Given the description of an element on the screen output the (x, y) to click on. 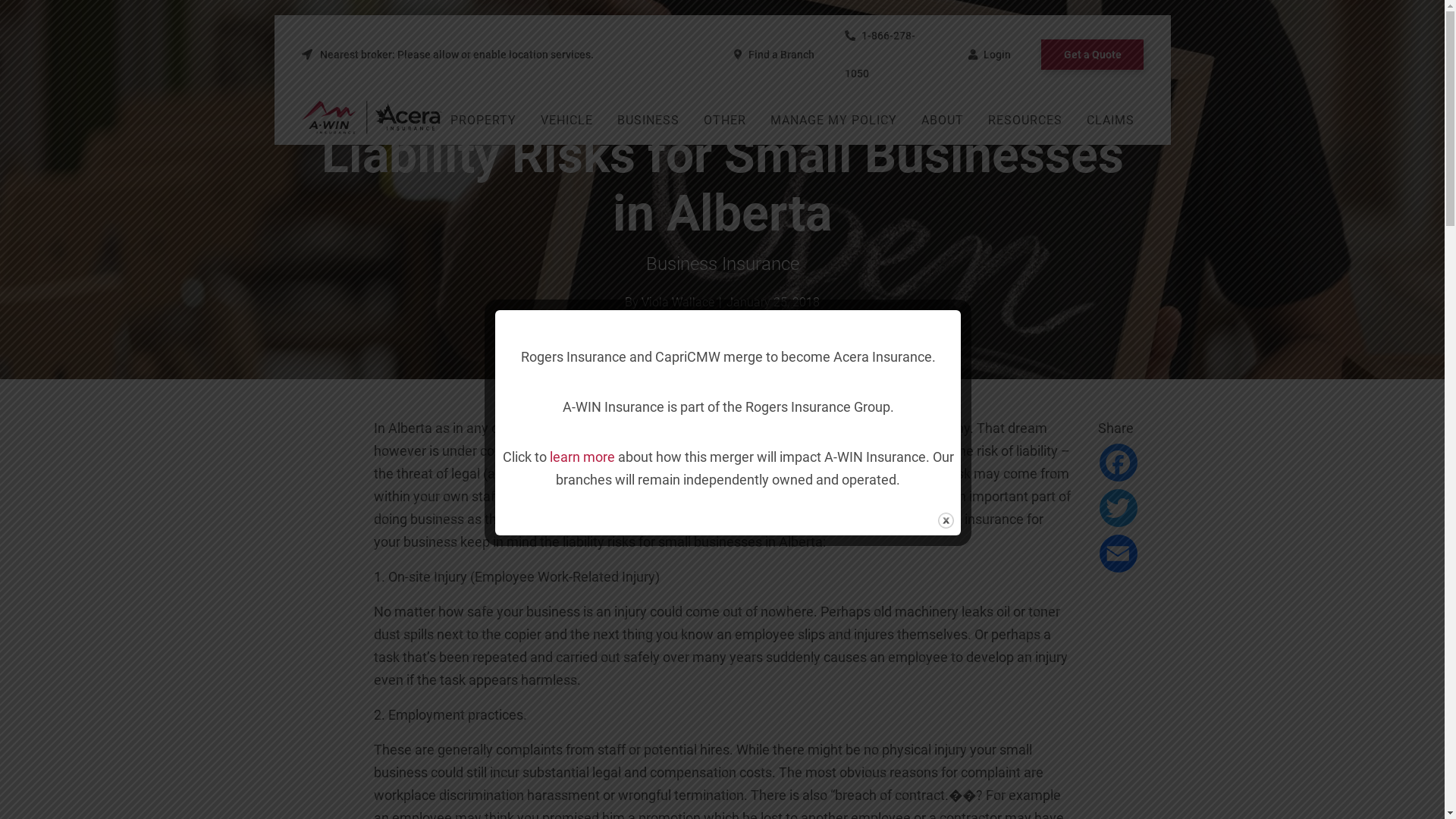
OTHER Element type: text (724, 120)
Get a Quote Element type: text (1091, 54)
Twitter Element type: text (1118, 507)
Login Element type: text (988, 54)
BUSINESS Element type: text (647, 120)
Email Element type: text (1118, 553)
1-866-278-1050 Element type: text (879, 54)
Find a Branch Element type: text (774, 54)
ABOUT Element type: text (942, 120)
VEHICLE Element type: text (566, 120)
PROPERTY Element type: text (482, 120)
MANAGE MY POLICY Element type: text (833, 120)
learn more Element type: text (581, 456)
RESOURCES Element type: text (1024, 120)
Facebook Element type: text (1118, 462)
CLAIMS Element type: text (1110, 120)
